Given the description of an element on the screen output the (x, y) to click on. 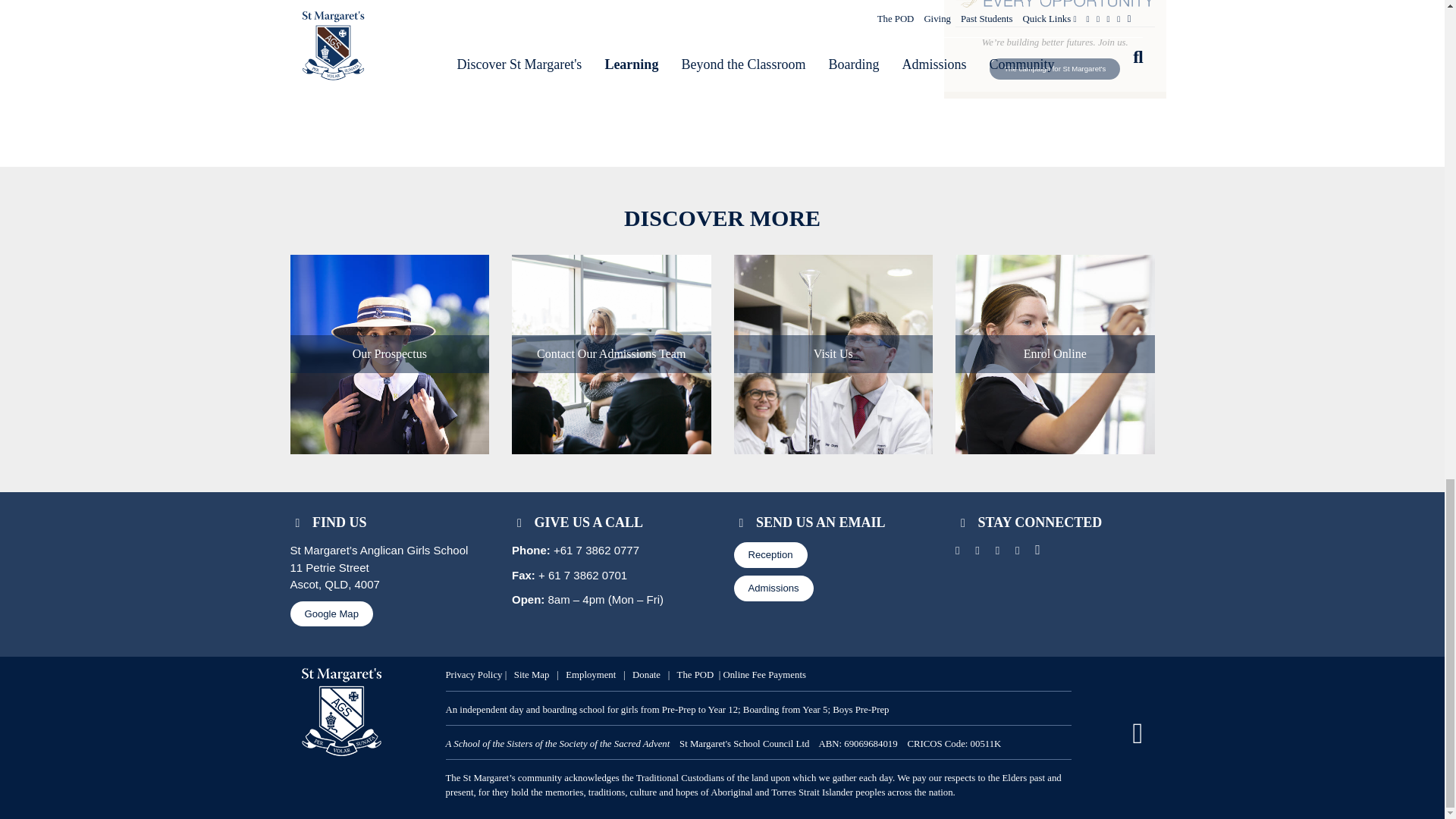
Open in Google Maps (330, 614)
